Given the description of an element on the screen output the (x, y) to click on. 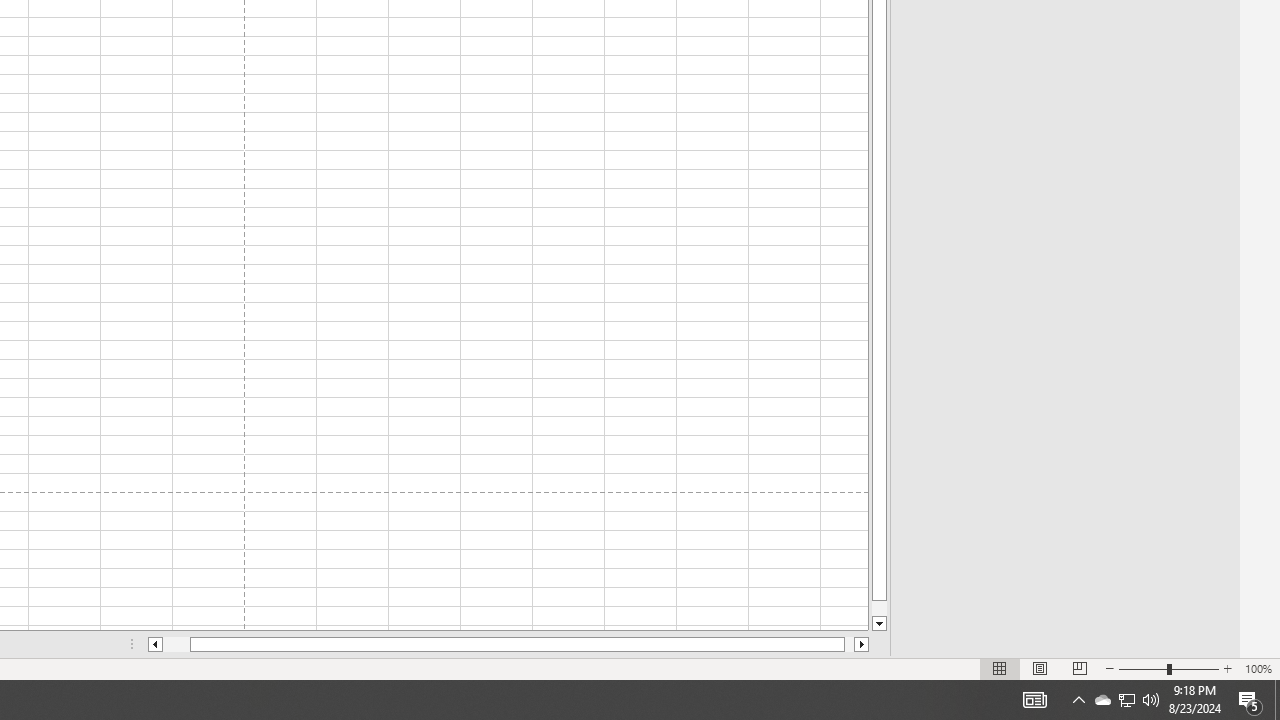
Page left (175, 644)
